Given the description of an element on the screen output the (x, y) to click on. 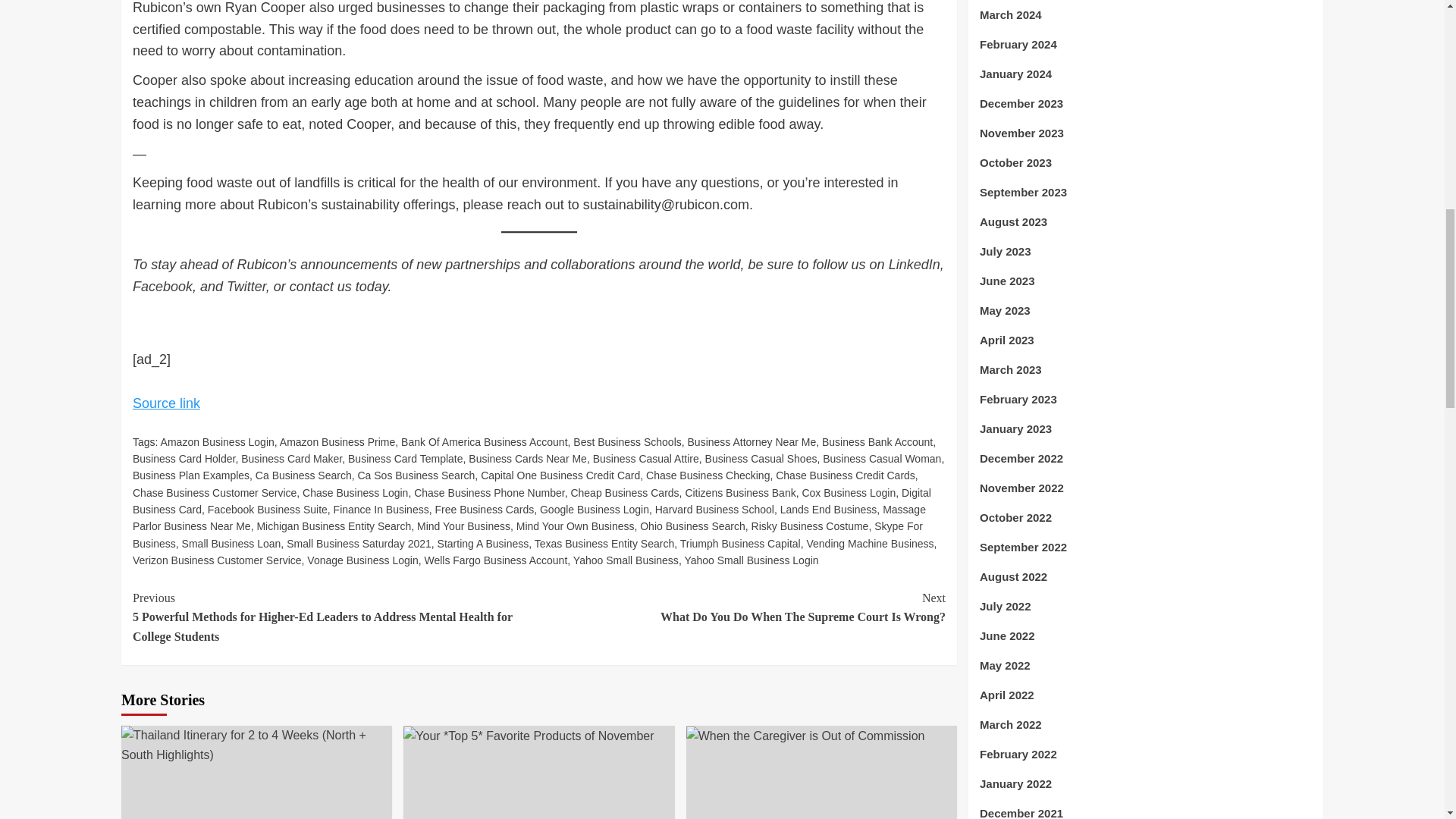
Twitter (246, 286)
Source link (166, 403)
When the Caregiver is Out of Commission (804, 736)
Business Card Holder (183, 458)
Business Attorney Near Me (751, 440)
Business Cards Near Me (527, 458)
Bank Of America Business Account (484, 440)
Business Casual Attire (645, 458)
LinkedIn (914, 264)
Business Bank Account (877, 440)
